Given the description of an element on the screen output the (x, y) to click on. 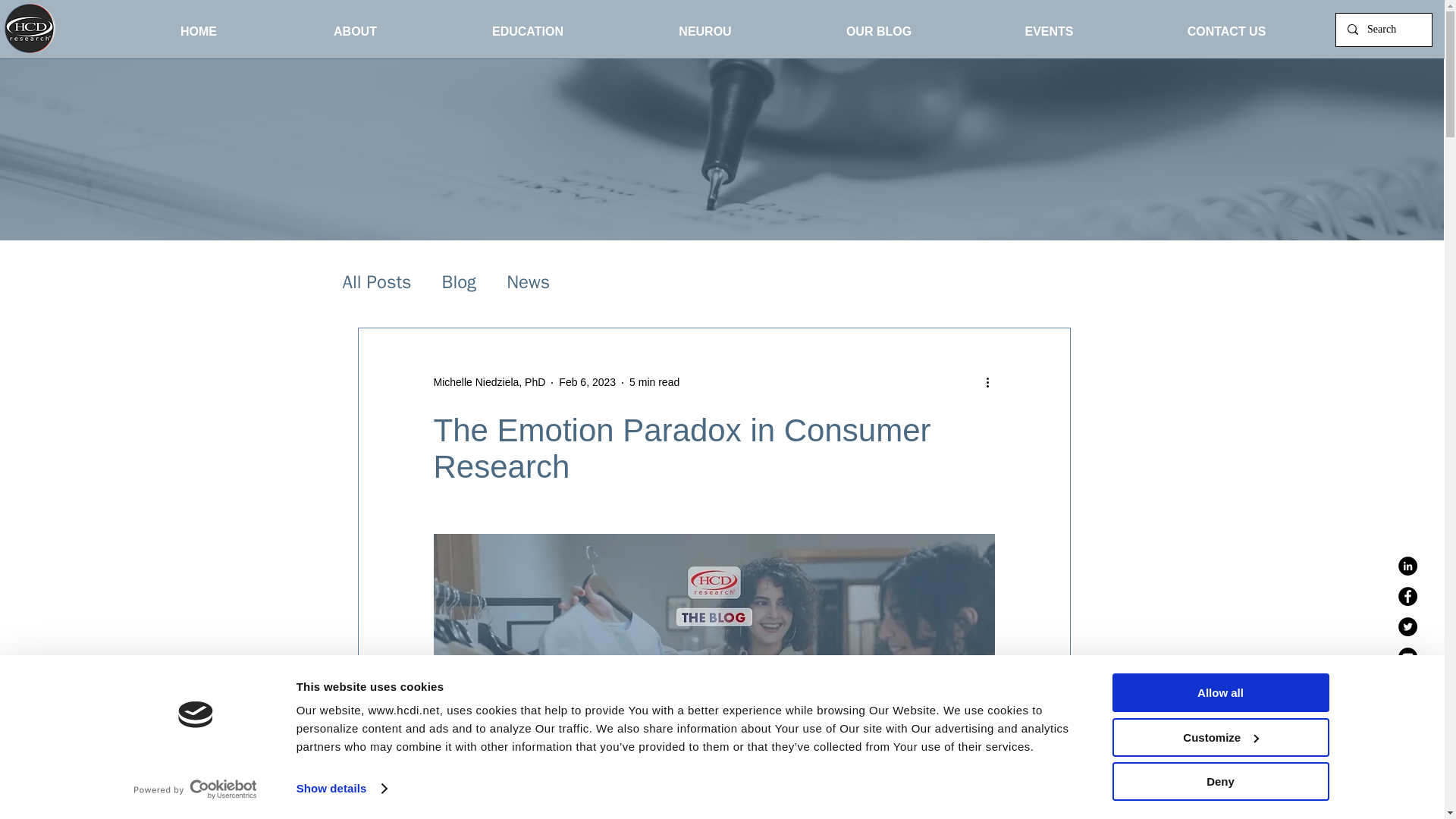
Feb 6, 2023 (587, 381)
5 min read (653, 381)
Show details (341, 788)
Michelle Niedziela, PhD (489, 382)
